Given the description of an element on the screen output the (x, y) to click on. 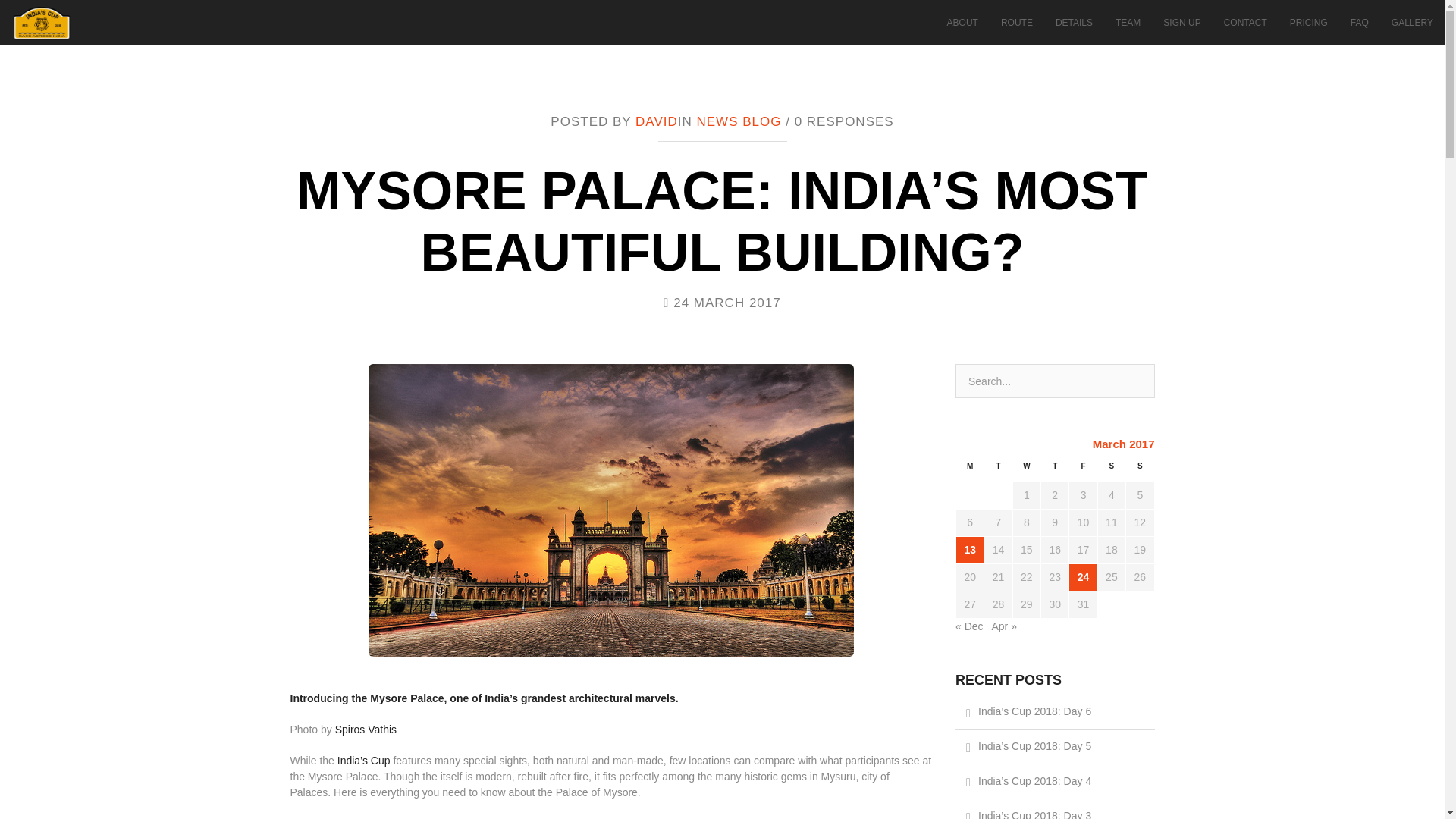
BLOG (761, 121)
logo (41, 22)
Sunday (1139, 469)
Tuesday (997, 469)
PRICING (1308, 22)
Wednesday (1026, 469)
Saturday (1111, 469)
FAQ (1359, 22)
NEWS (716, 121)
Friday (1082, 469)
Posts by David (656, 121)
SIGN UP (1181, 22)
Thursday (1054, 469)
DETAILS (1073, 22)
TEAM (1127, 22)
